Given the description of an element on the screen output the (x, y) to click on. 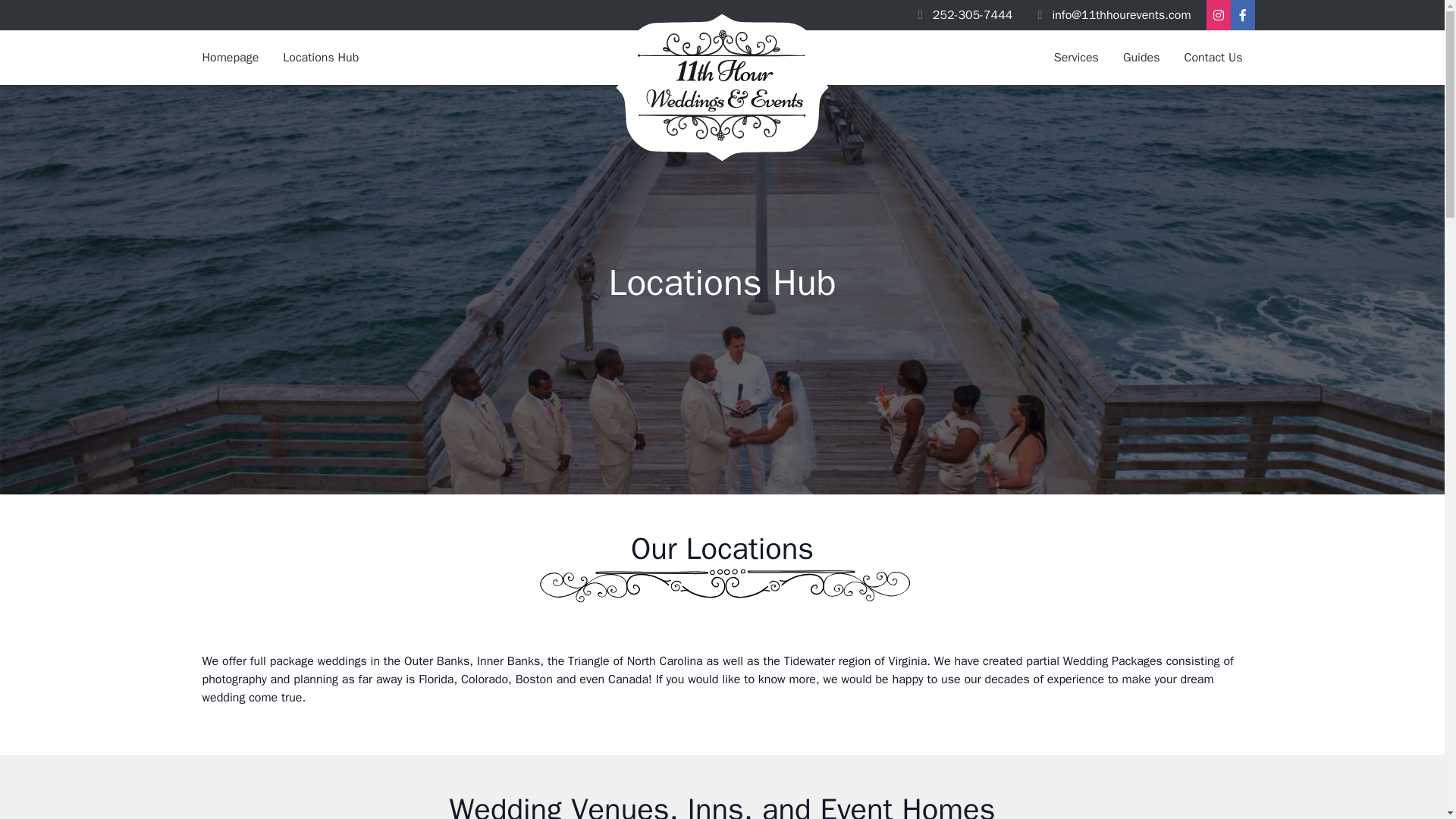
252-305-7444 (966, 15)
Services (1076, 57)
Contact Us (1212, 57)
Locations Hub (320, 57)
Homepage (229, 57)
Guides (1141, 57)
